Given the description of an element on the screen output the (x, y) to click on. 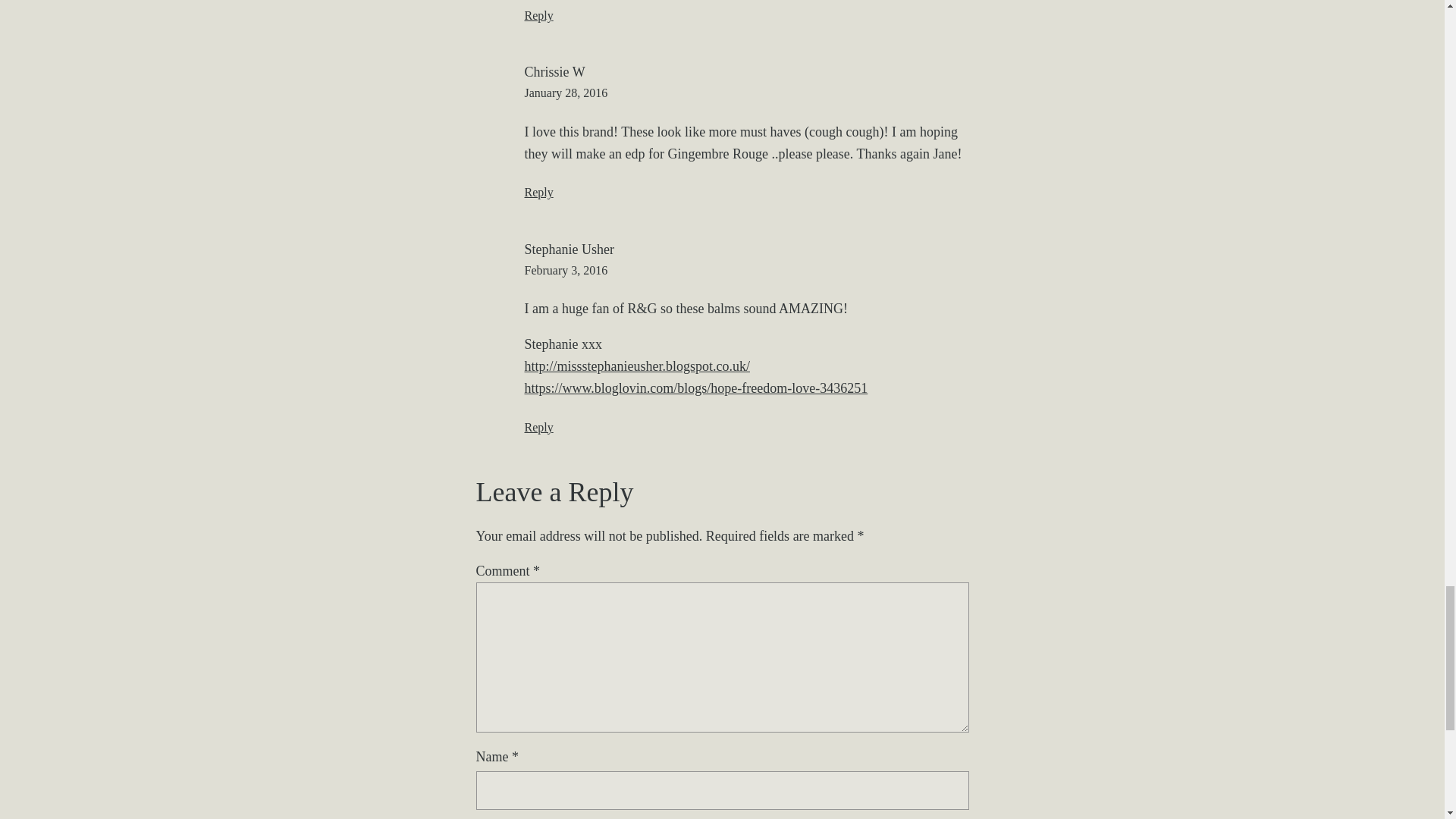
Reply (538, 427)
January 28, 2016 (566, 92)
Reply (538, 15)
Reply (538, 192)
February 3, 2016 (566, 269)
Stephanie Usher (569, 249)
